Given the description of an element on the screen output the (x, y) to click on. 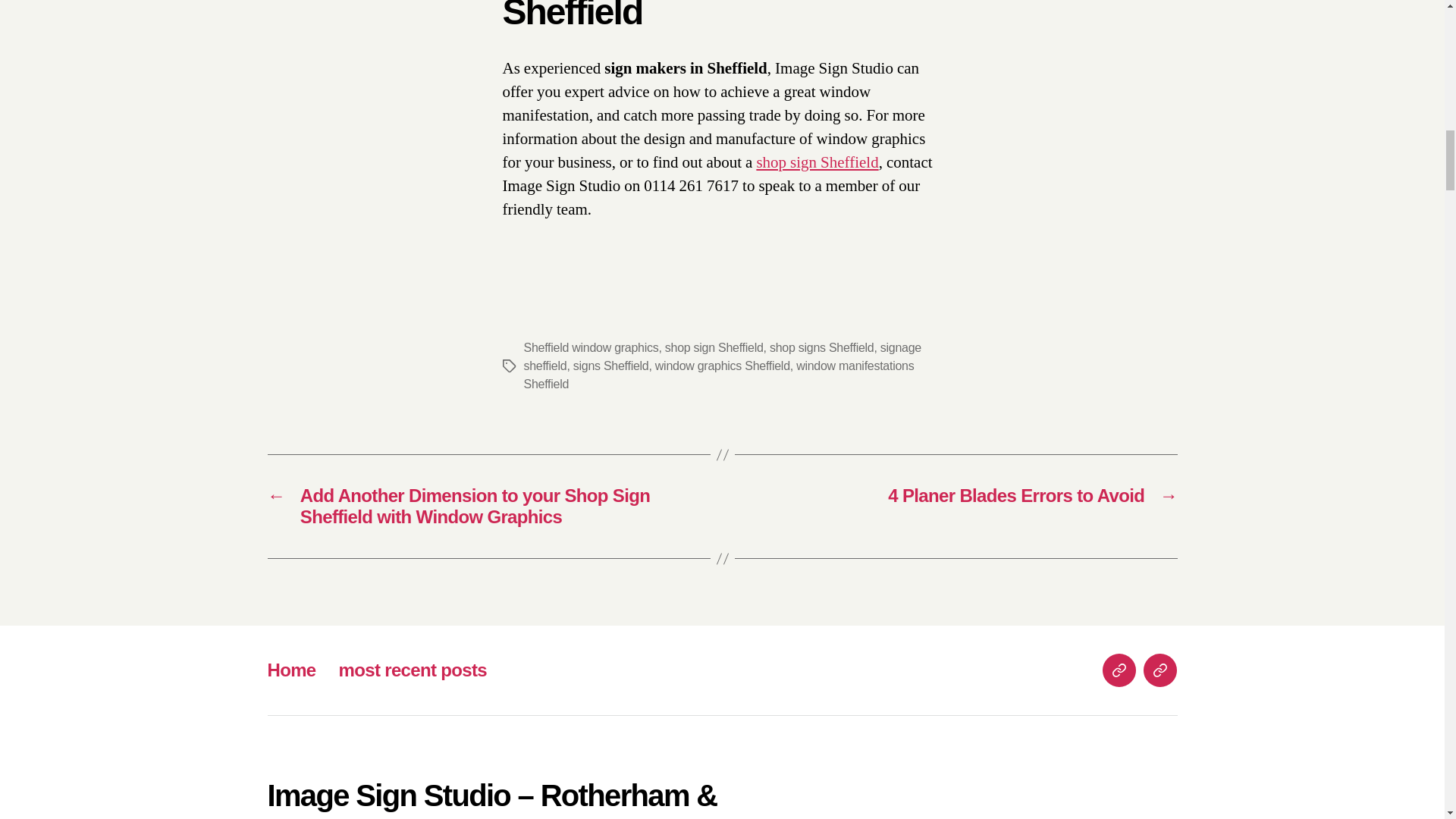
most recent posts (1159, 670)
Home (290, 670)
most recent posts (412, 670)
shop sign Sheffield (713, 347)
window manifestations Sheffield (718, 374)
Sheffield window graphics (590, 347)
signs Sheffield (611, 365)
shop signs Sheffield (822, 347)
signage sheffield (721, 356)
shop sign Sheffield (816, 162)
window graphics Sheffield (722, 365)
Home (1118, 670)
